Given the description of an element on the screen output the (x, y) to click on. 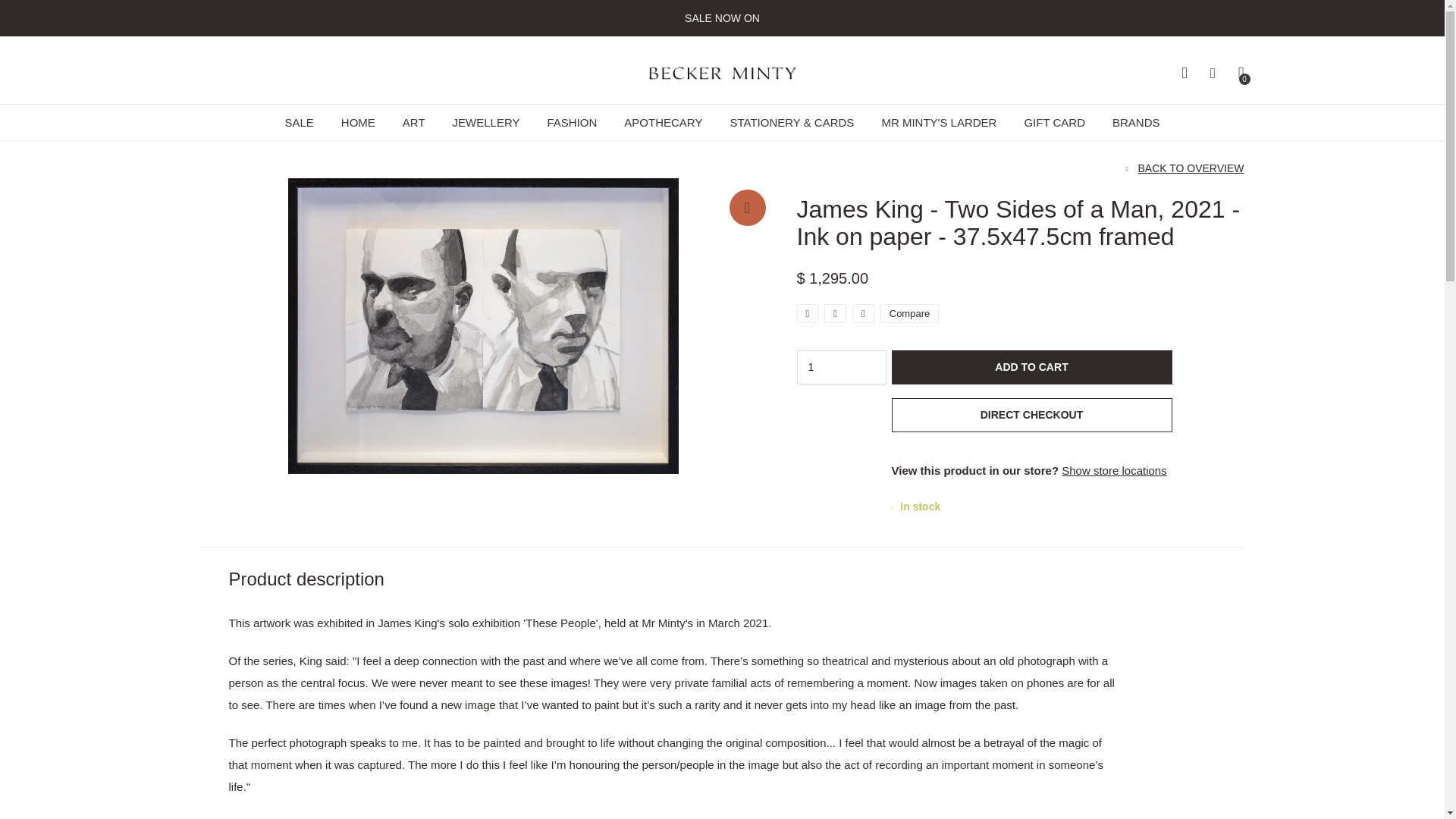
SALE (298, 125)
1 (840, 367)
SALE (298, 122)
Gift Card (1053, 122)
JEWELLERY (485, 122)
FASHION (571, 125)
JEWELLERY (485, 125)
APOTHECARY (662, 125)
HOME (357, 125)
ART (414, 122)
HOME (357, 122)
Brands (1136, 122)
